Given the description of an element on the screen output the (x, y) to click on. 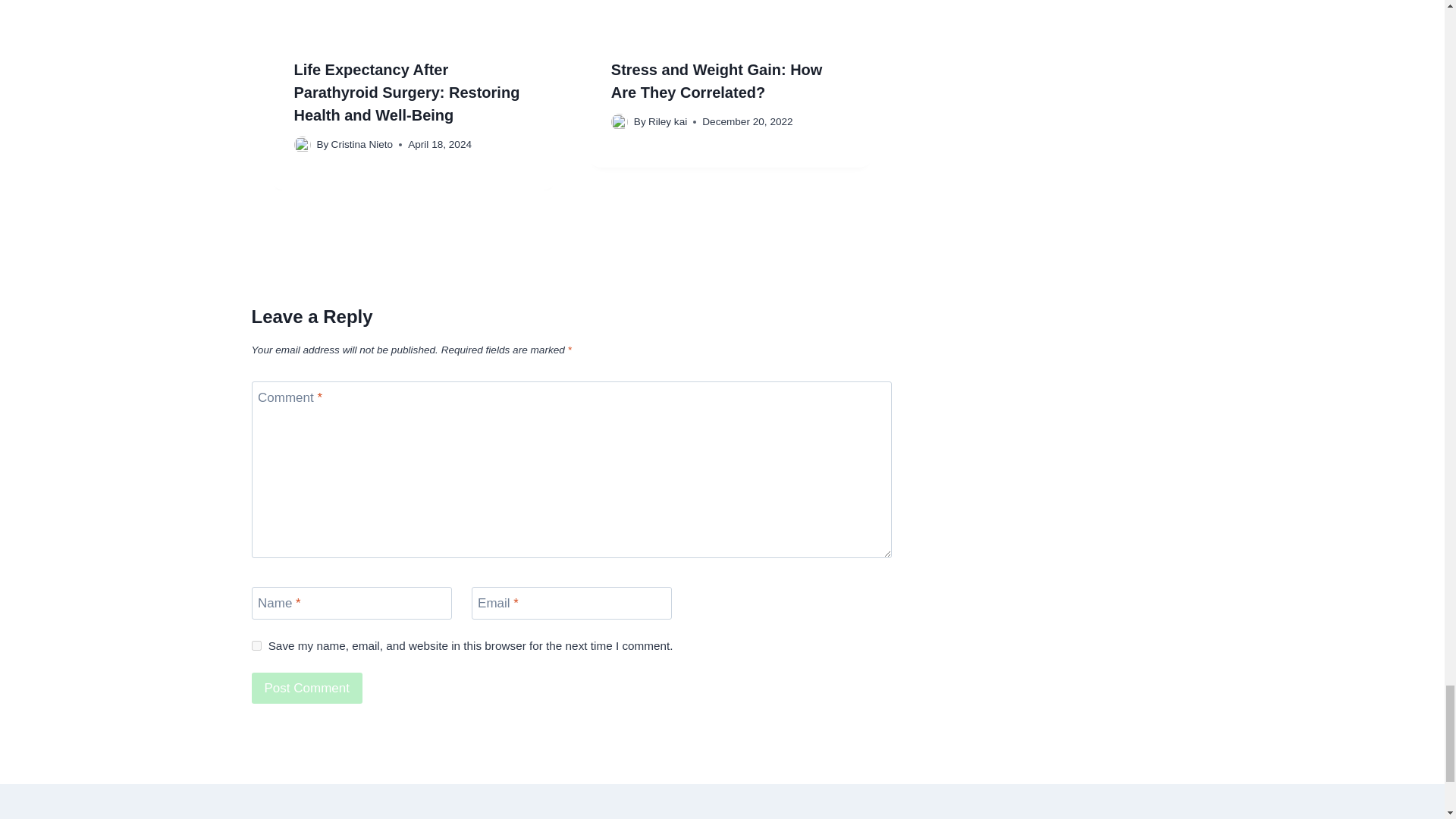
Post Comment (306, 687)
yes (256, 645)
